Given the description of an element on the screen output the (x, y) to click on. 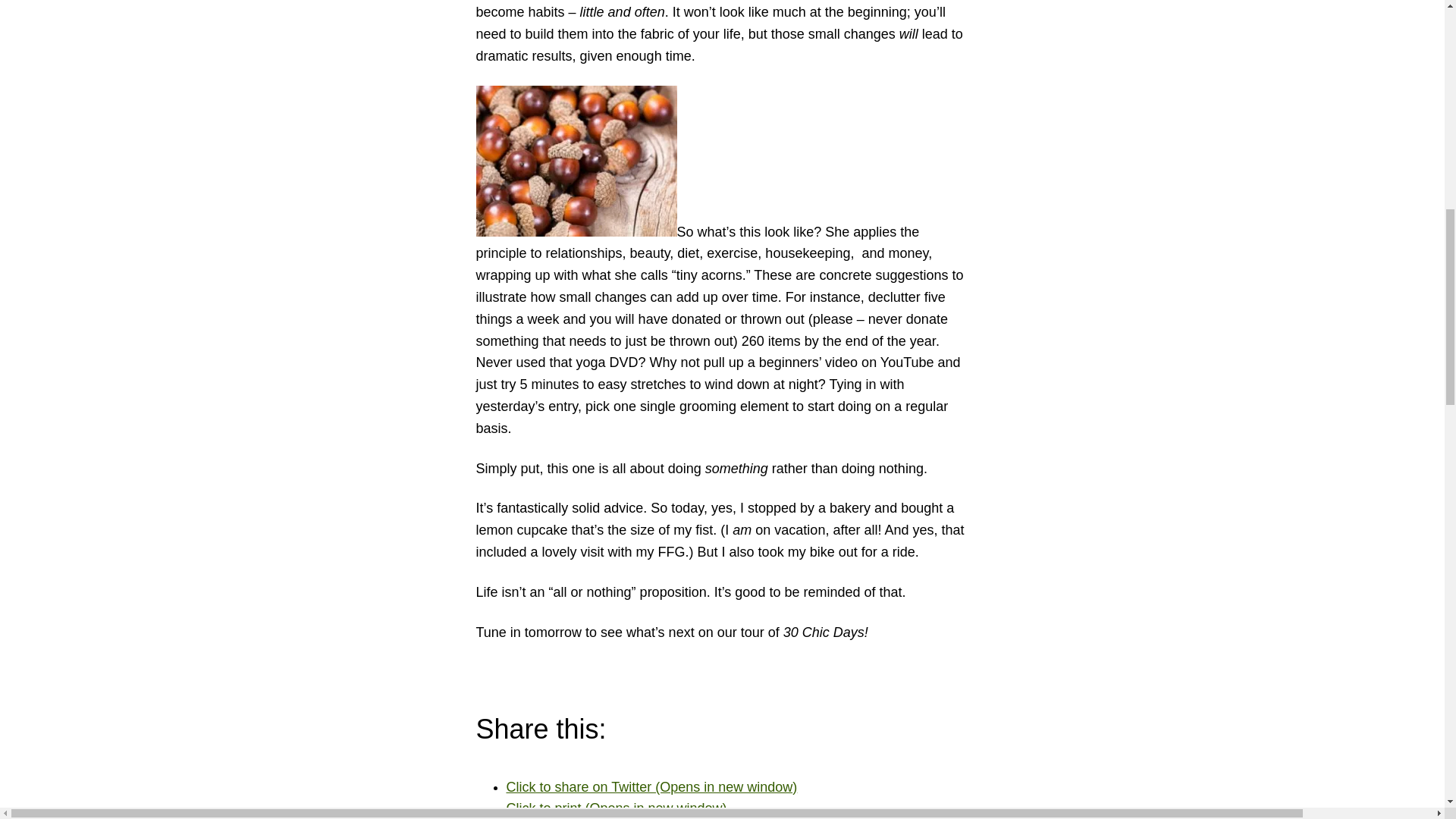
Click to share on Twitter (651, 786)
